Given the description of an element on the screen output the (x, y) to click on. 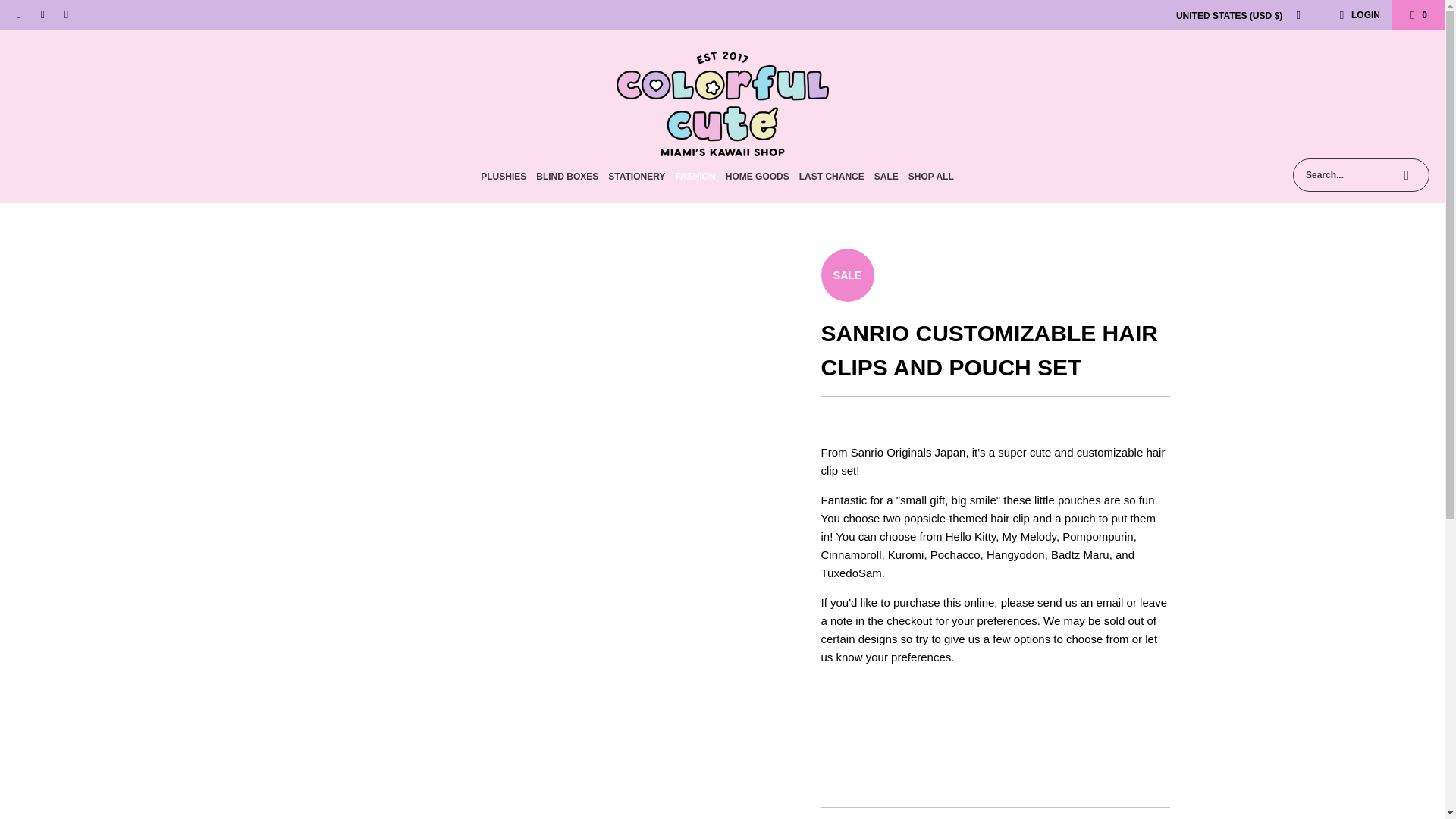
Colorful Cute on Facebook (17, 14)
My Account  (1357, 14)
Colorful Cute on Instagram (41, 14)
Colorful Cute on TikTok (65, 14)
Colorful Cute (721, 97)
